Given the description of an element on the screen output the (x, y) to click on. 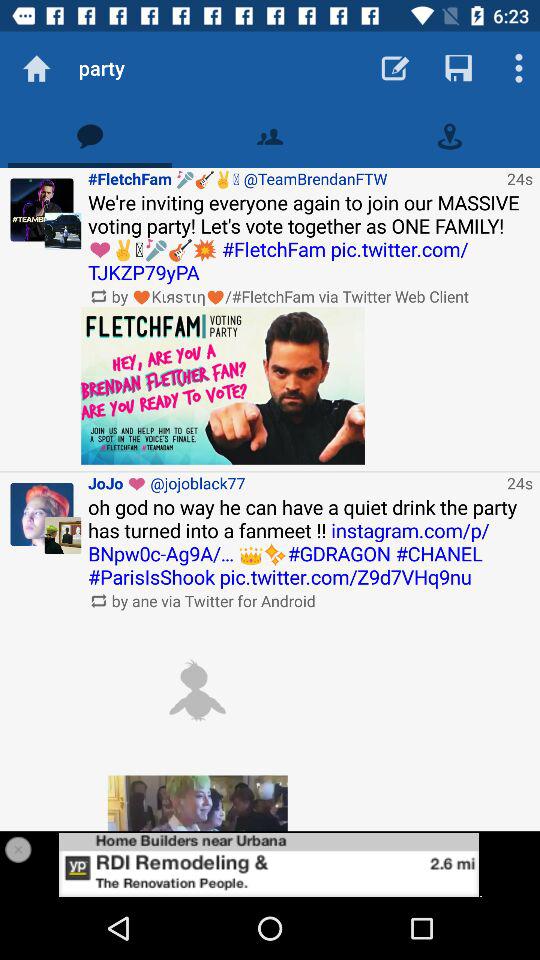
go to messaging page (90, 136)
